Given the description of an element on the screen output the (x, y) to click on. 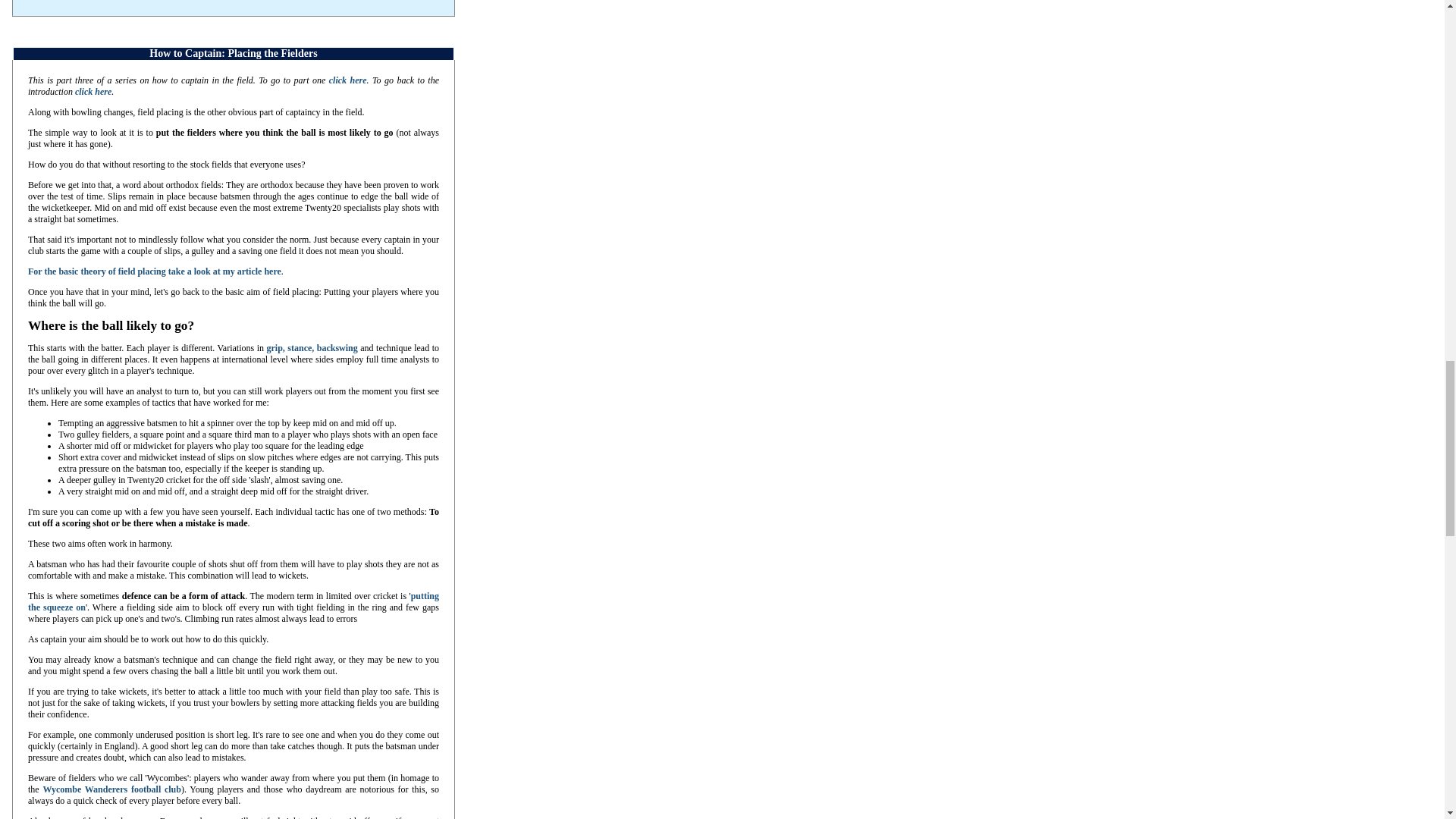
putting the squeeze on (233, 601)
grip, stance, backswing (311, 347)
click here (347, 80)
click here (93, 91)
Wycombe Wanderers football club (111, 788)
